Given the description of an element on the screen output the (x, y) to click on. 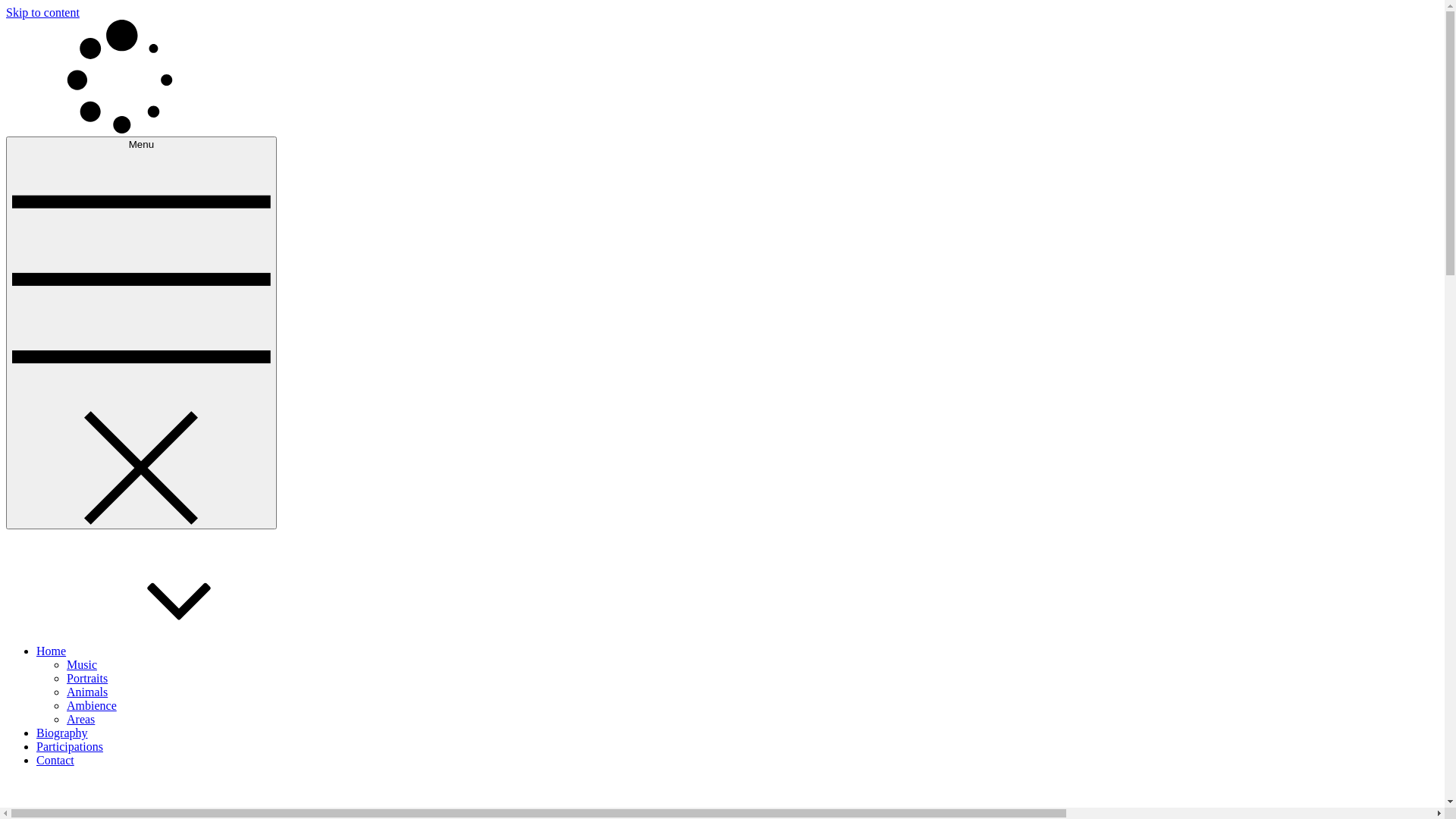
Home Element type: text (164, 650)
Ambience Element type: text (91, 705)
Music Element type: text (81, 664)
Contact Element type: text (55, 759)
Animals Element type: text (86, 691)
Biography Element type: text (61, 732)
Menu Element type: text (141, 332)
Portraits Element type: text (86, 677)
Skip to content Element type: text (42, 12)
Areas Element type: text (80, 718)
Diana Avramova Element type: text (46, 154)
Participations Element type: text (69, 746)
